Given the description of an element on the screen output the (x, y) to click on. 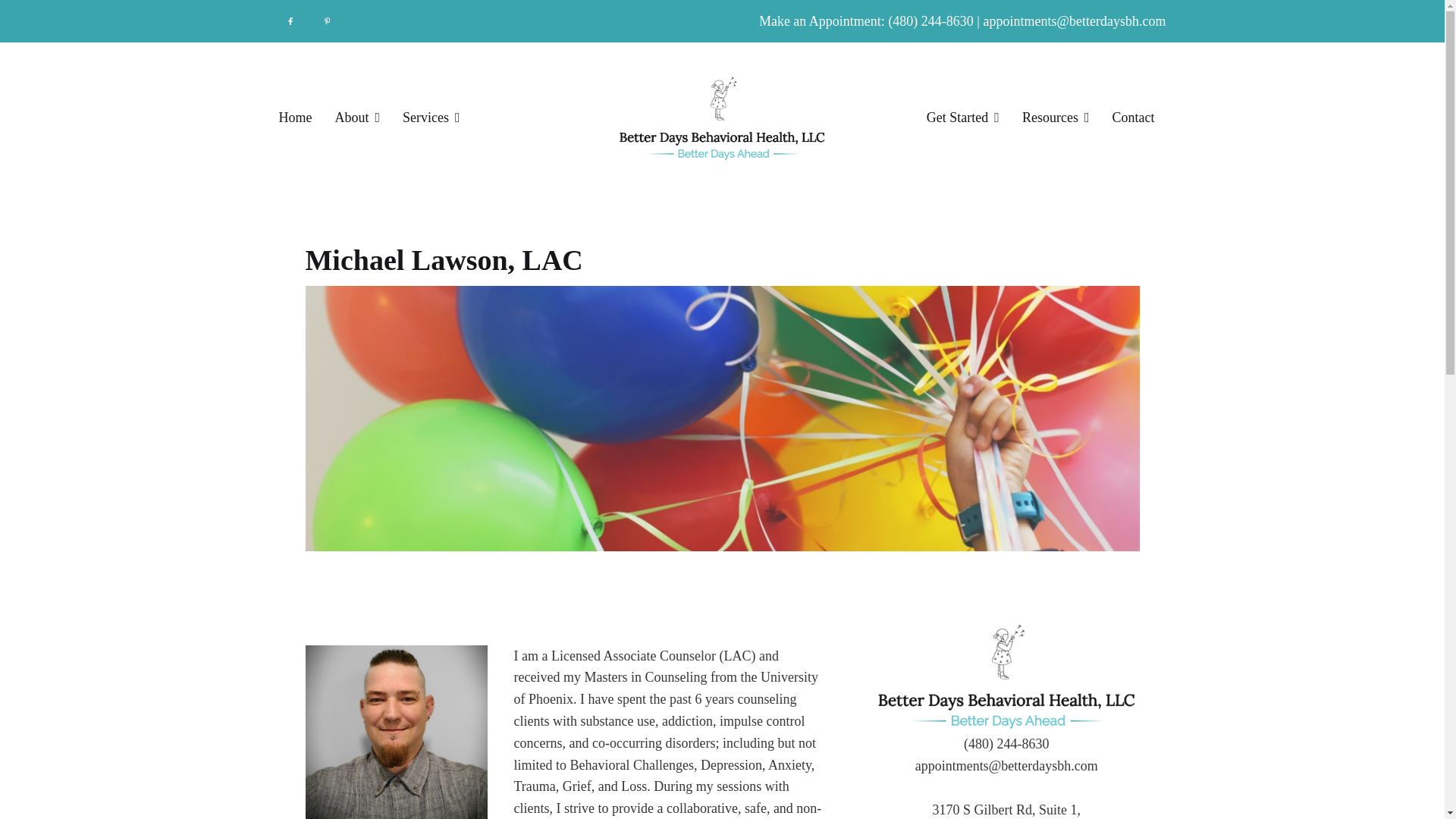
Services (431, 117)
About (357, 117)
Home (296, 117)
